Given the description of an element on the screen output the (x, y) to click on. 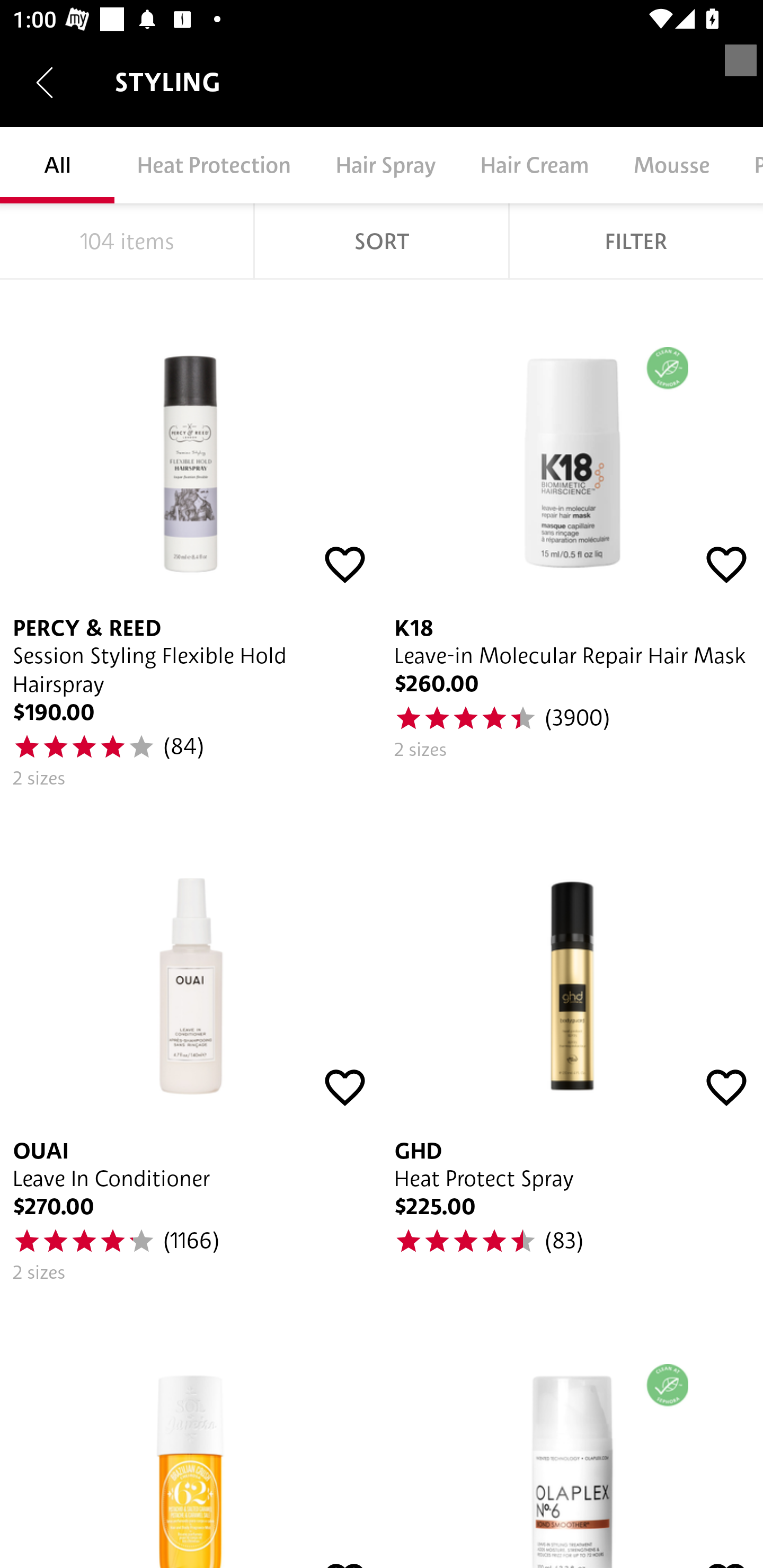
Navigate up (44, 82)
Heat Protection (213, 165)
Hair Spray (384, 165)
Hair Cream (534, 165)
Mousse (671, 165)
SORT (381, 241)
FILTER (636, 241)
GHD Heat Protect Spray $225.00 45.0 (83) (572, 1049)
